Given the description of an element on the screen output the (x, y) to click on. 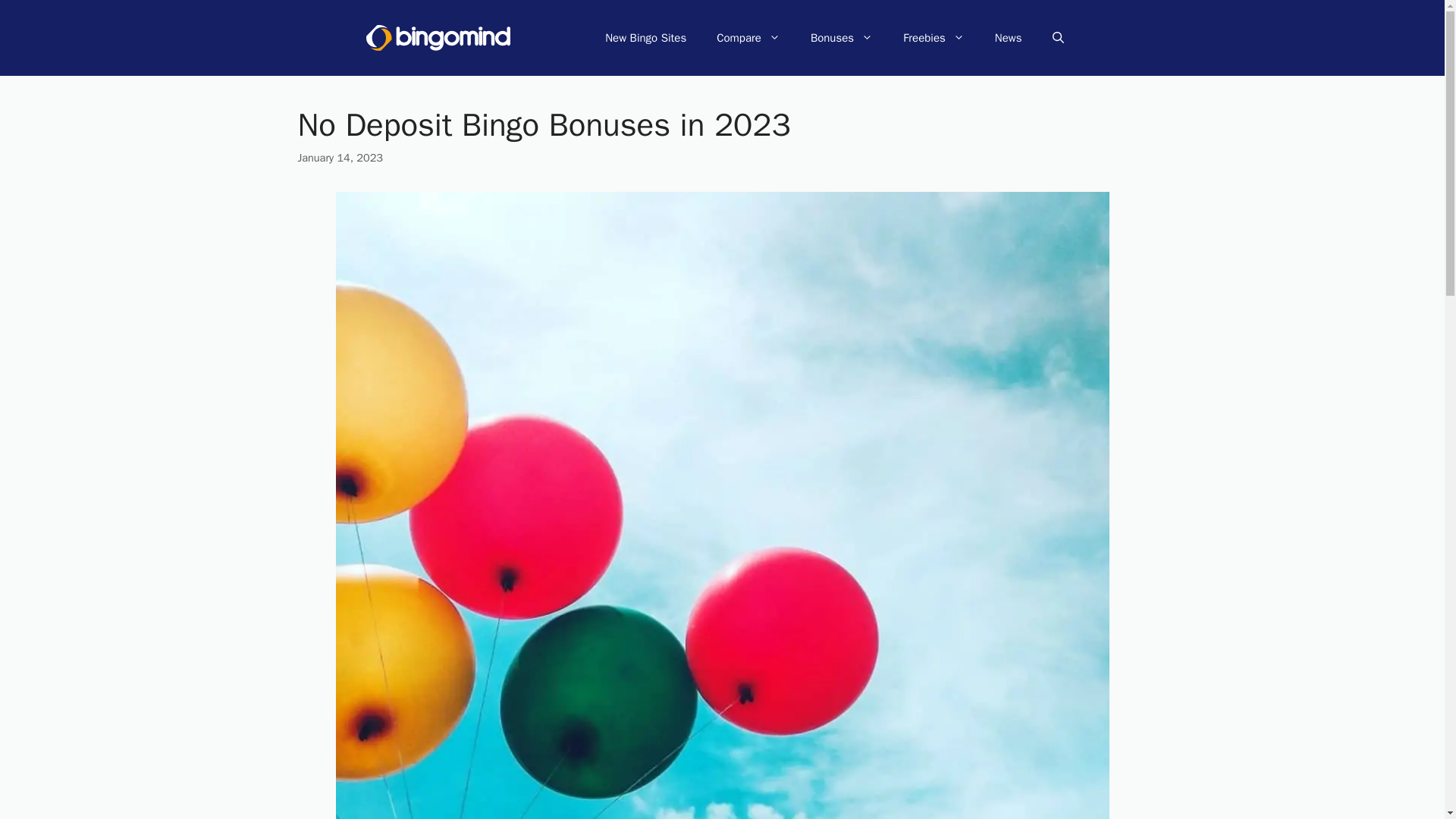
Bonuses (841, 37)
Compare (747, 37)
New Bingo Sites (645, 37)
